Given the description of an element on the screen output the (x, y) to click on. 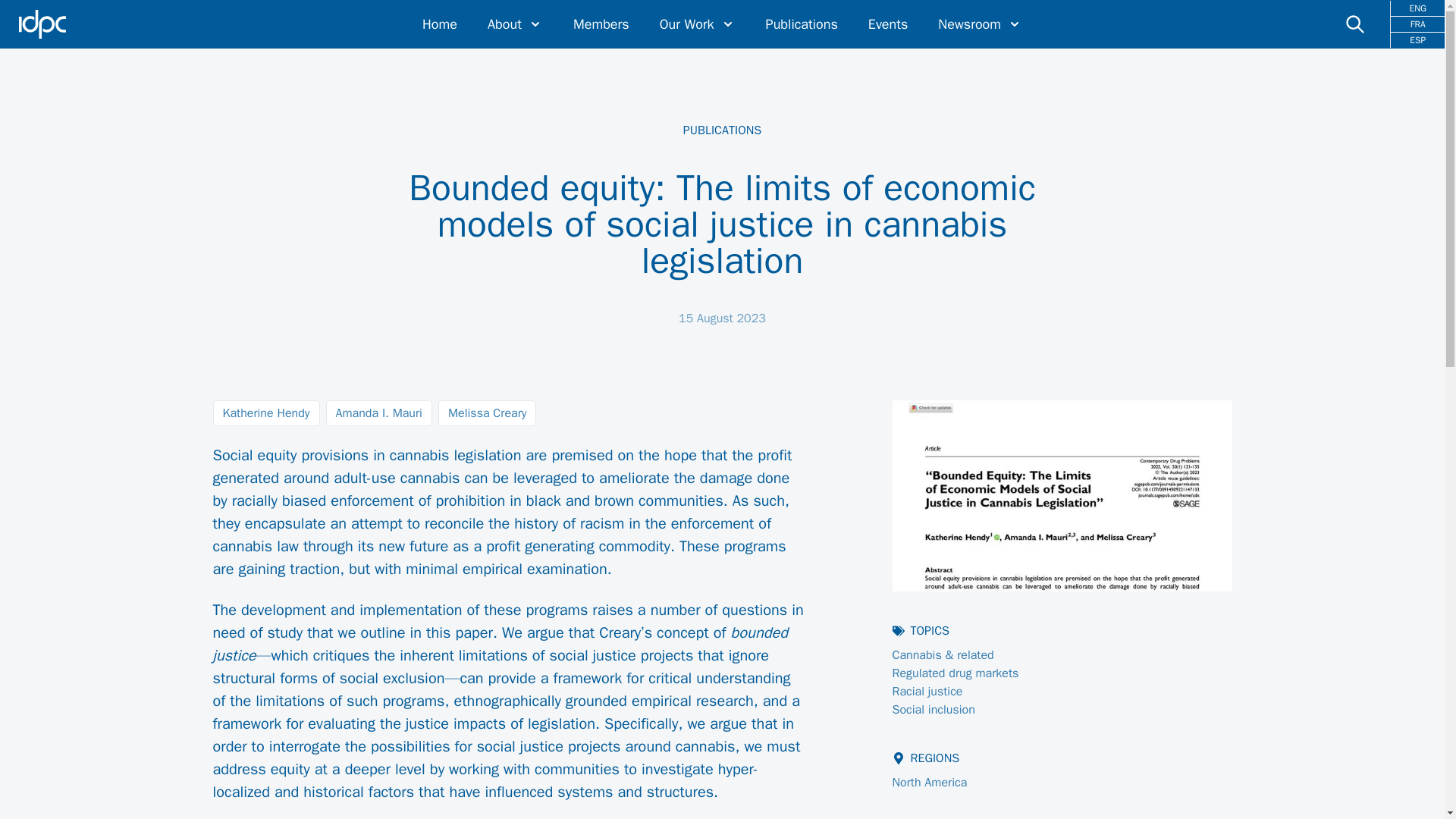
IDPC (42, 24)
PUBLICATIONS (721, 130)
Publications (801, 23)
Members (600, 23)
Our Work (697, 24)
Events (887, 23)
Newsroom (979, 24)
Racial justice (927, 691)
North America (930, 782)
Home (439, 23)
Social inclusion (933, 709)
About (515, 24)
Regulated drug markets (955, 672)
